Given the description of an element on the screen output the (x, y) to click on. 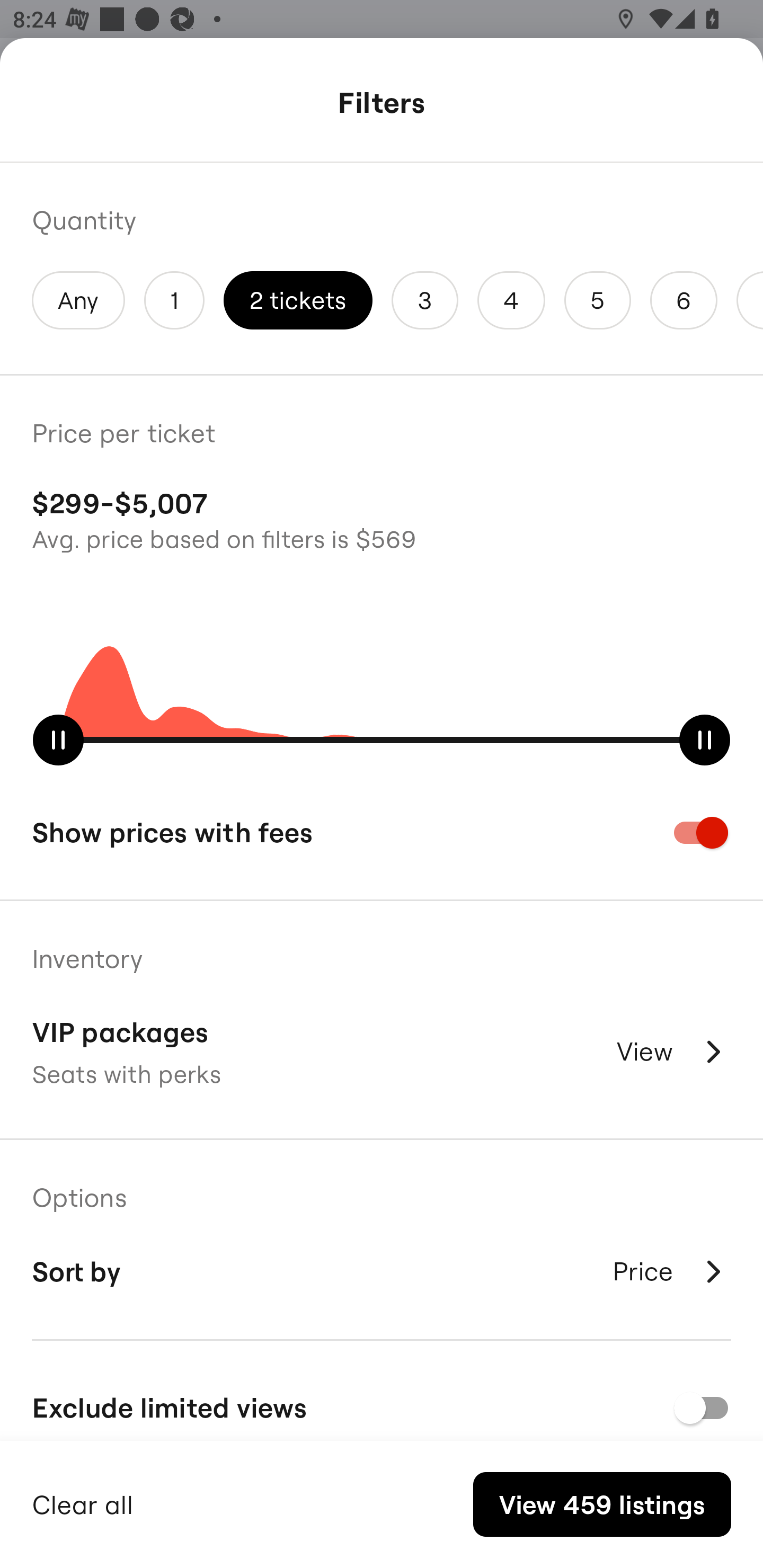
Any (78, 300)
1 (173, 300)
2 tickets (297, 300)
3 (424, 300)
4 (511, 300)
5 (597, 300)
6 (684, 300)
$299-$5,007 Avg. price based on filters is $569 (381, 518)
Show prices with fees (381, 832)
VIP packages Seats with perks View (381, 1052)
Sort by price (629, 1091)
Sort by Price (381, 1271)
Exclude limited views (381, 1405)
Clear all (83, 1502)
View 459 listings (601, 1504)
